Given the description of an element on the screen output the (x, y) to click on. 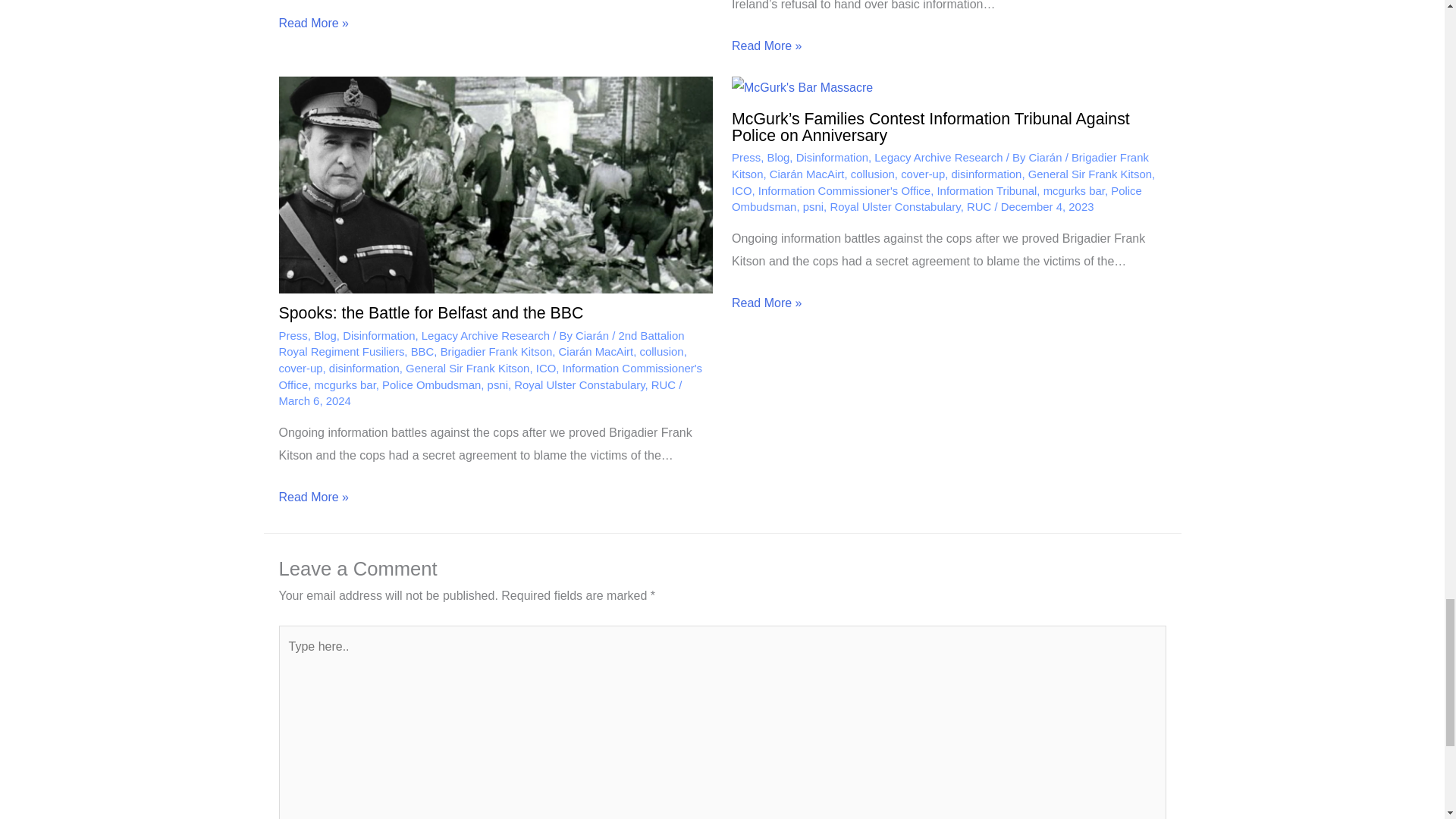
Spooks: the Battle for Belfast and the BBC 9 (496, 184)
